Given the description of an element on the screen output the (x, y) to click on. 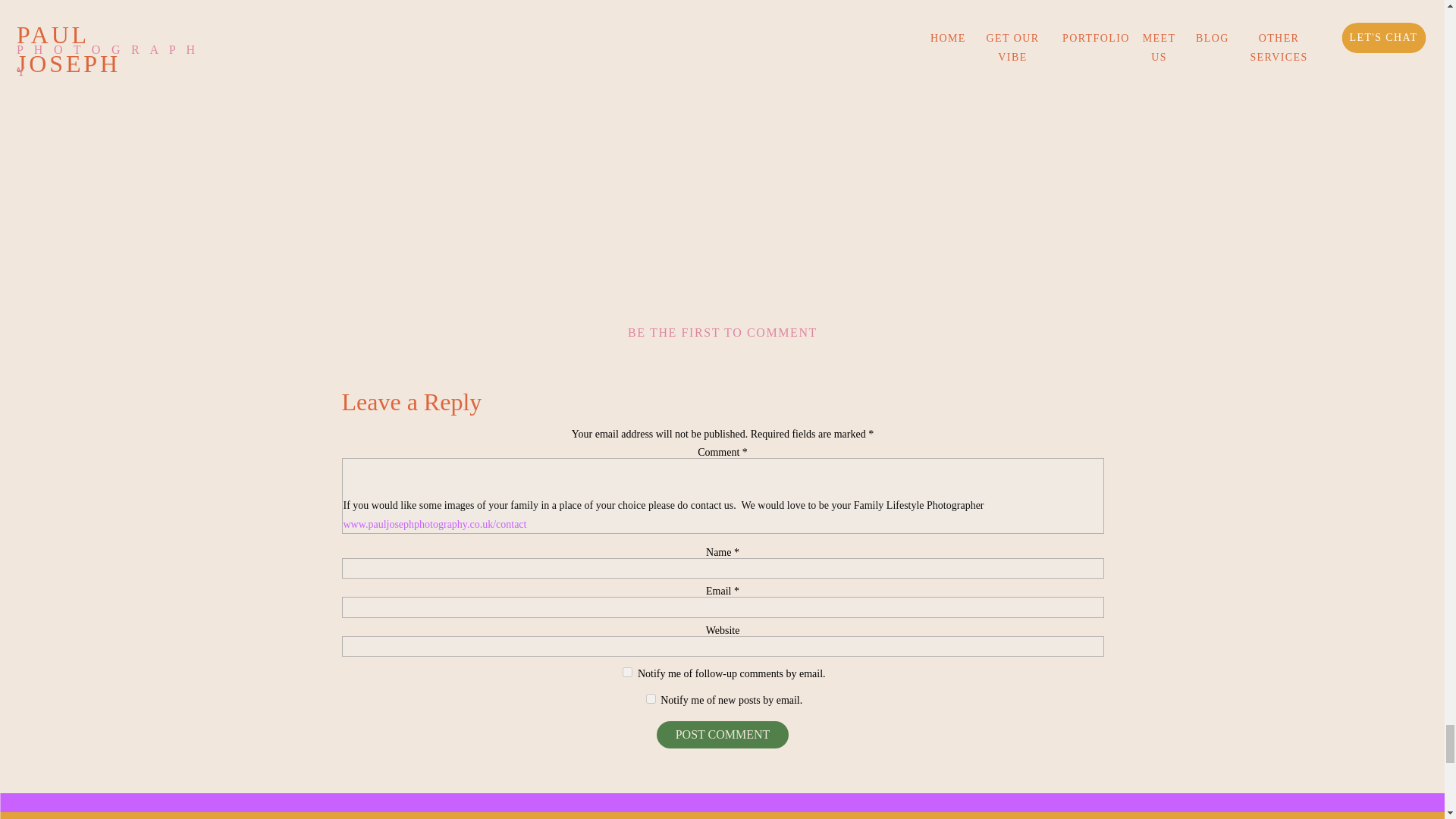
Post Comment (722, 734)
BE THE FIRST TO COMMENT (721, 332)
subscribe (651, 698)
Post Comment (722, 734)
subscribe (627, 672)
